Given the description of an element on the screen output the (x, y) to click on. 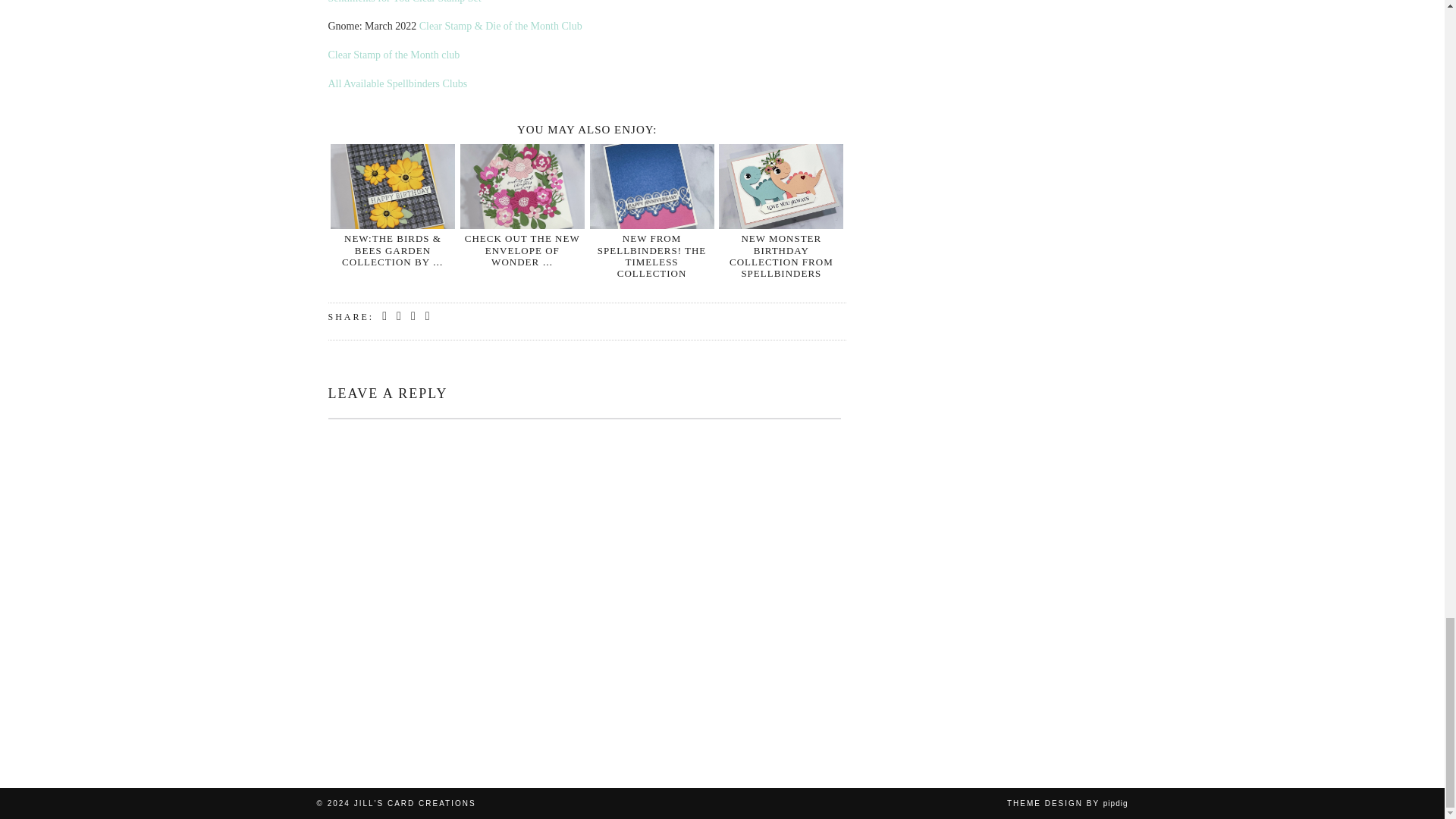
All Available Spellbinders Clubs (397, 83)
Sentiments for You Clear Stamp Set (403, 2)
Check out the New Envelope of Wonder from Spellbinders (522, 186)
Clear Stamp of the Month club (393, 54)
